Given the description of an element on the screen output the (x, y) to click on. 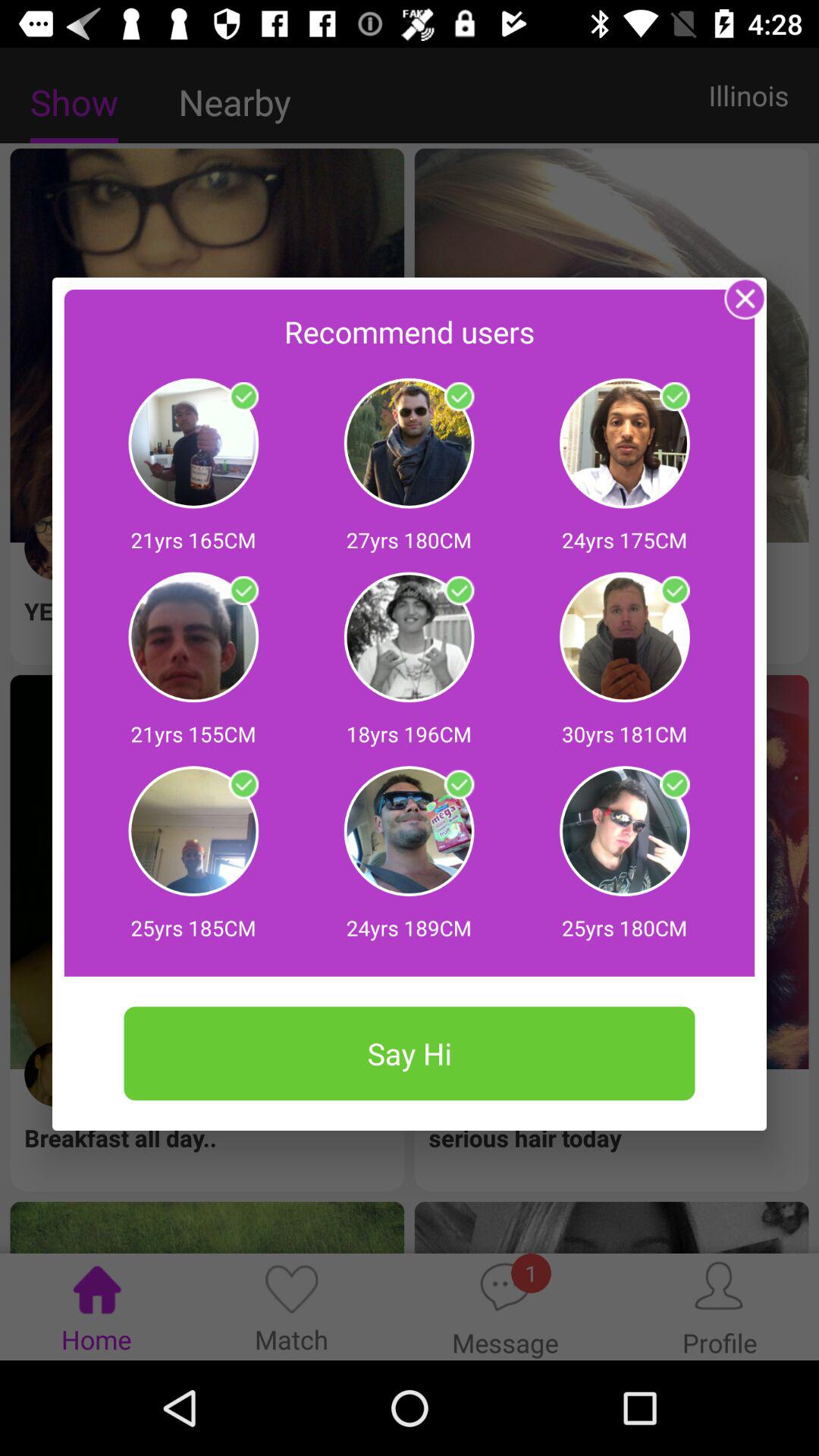
person (243, 590)
